Given the description of an element on the screen output the (x, y) to click on. 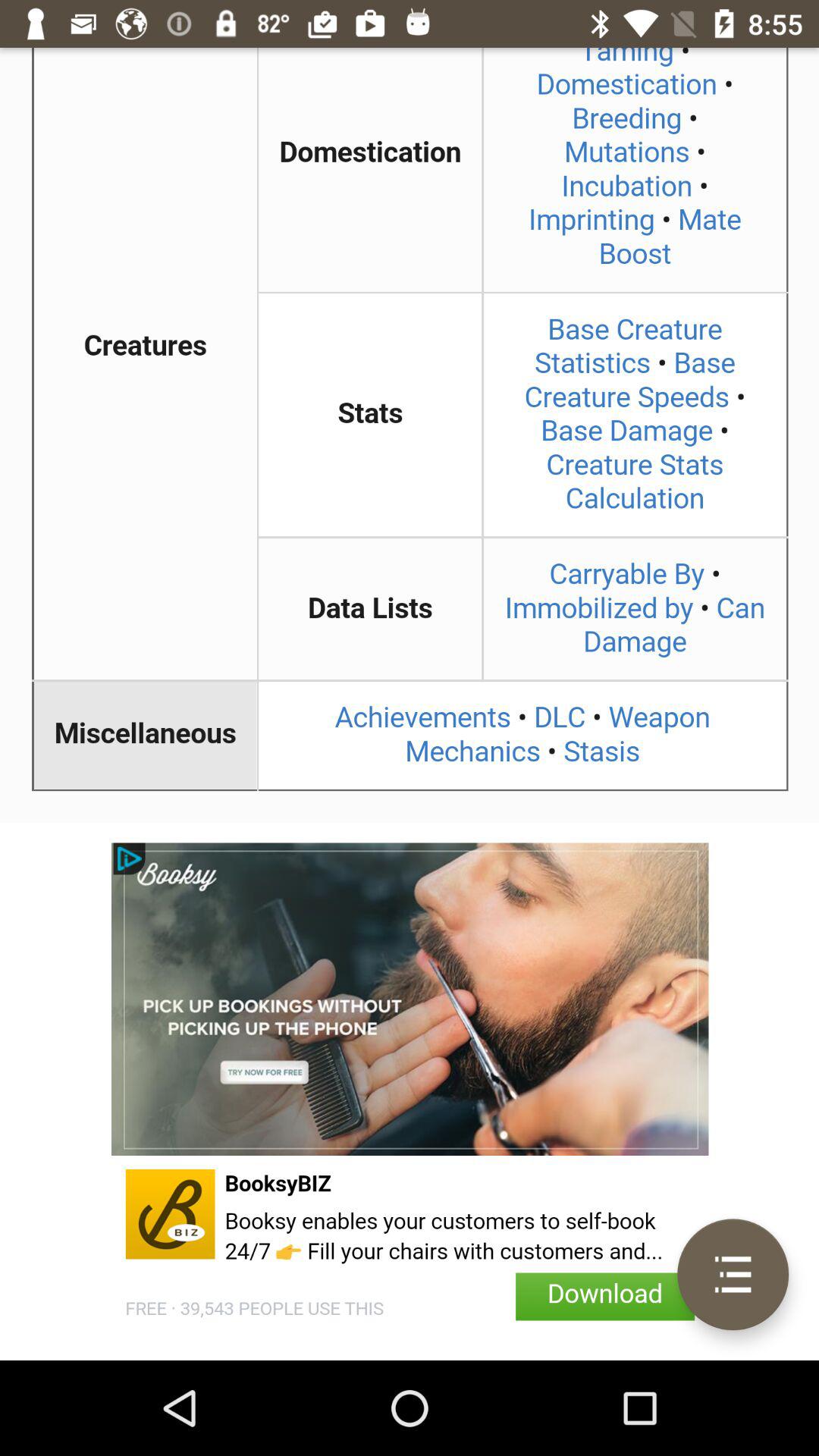
options setting (732, 1274)
